Given the description of an element on the screen output the (x, y) to click on. 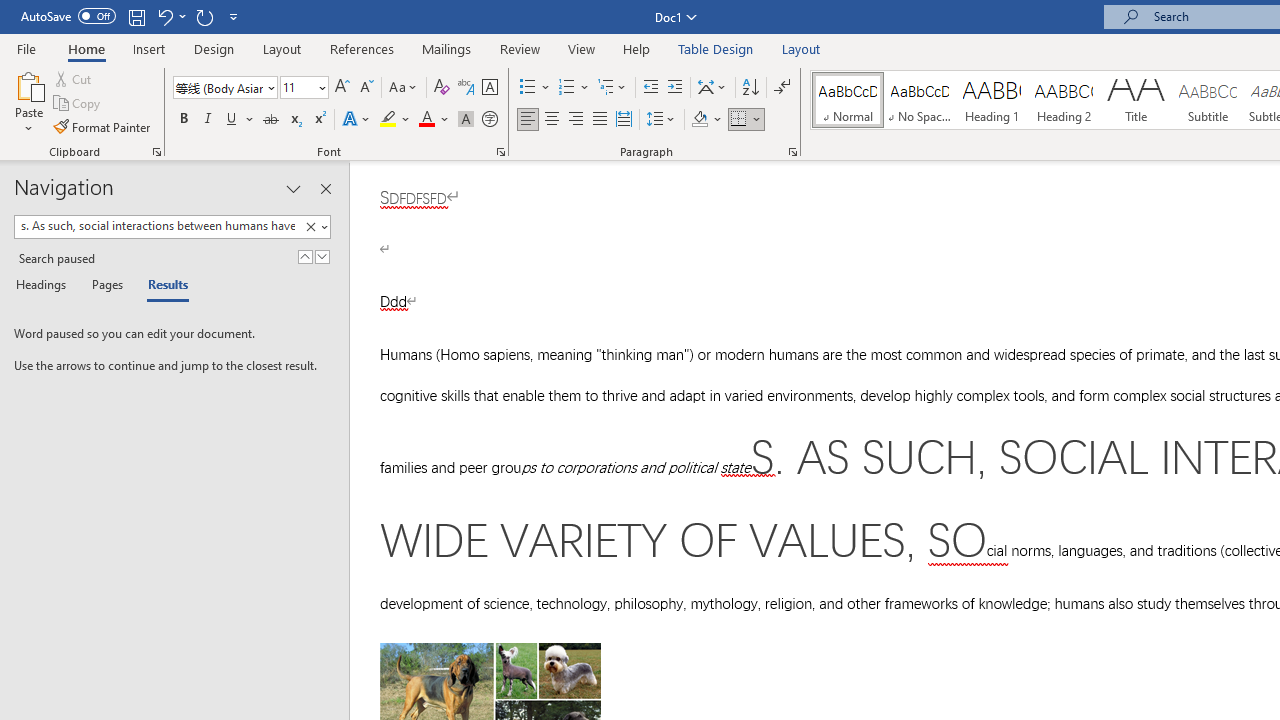
Align Left (527, 119)
